Given the description of an element on the screen output the (x, y) to click on. 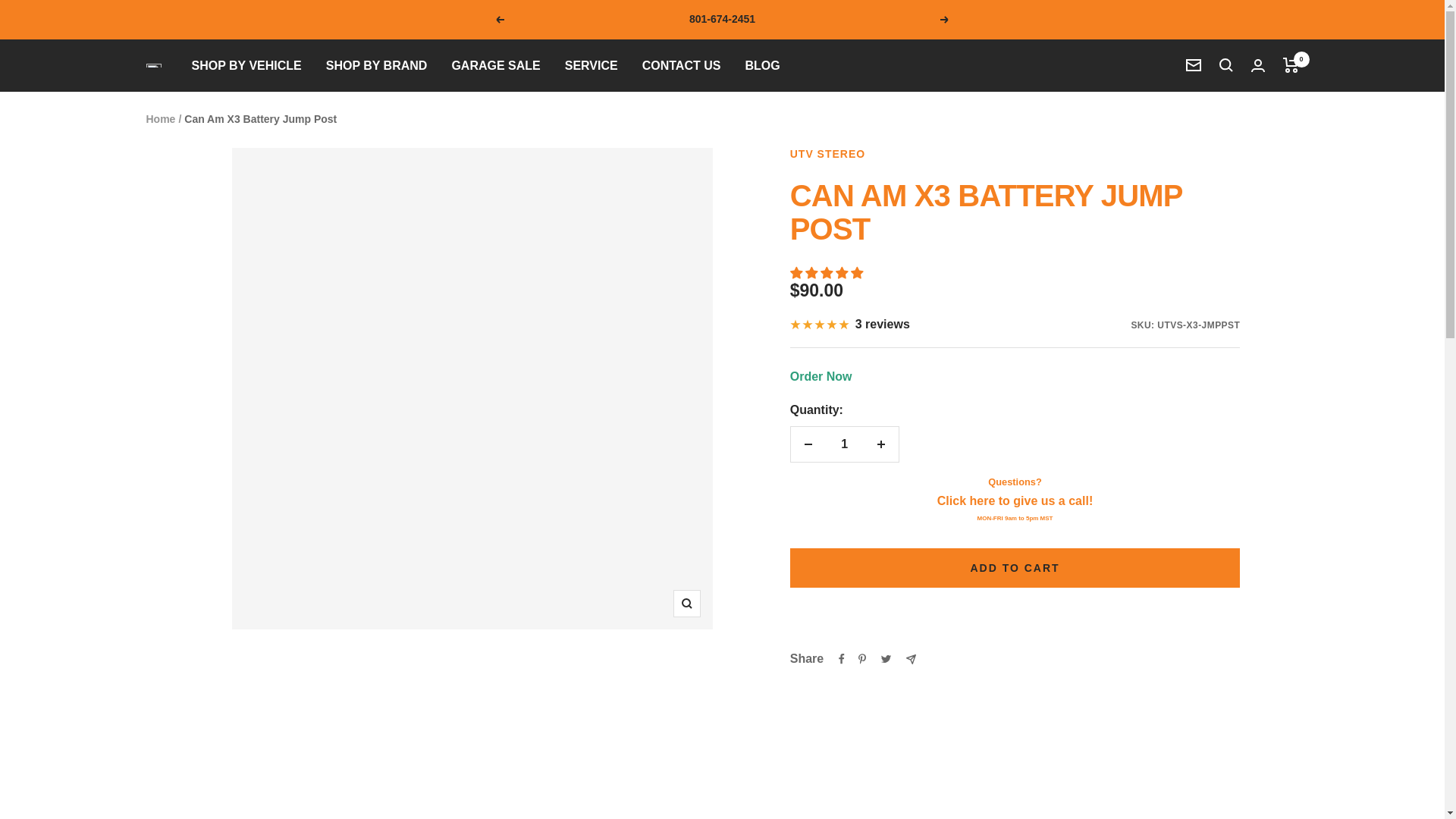
Newsletter (1193, 65)
Previous (499, 19)
1 (844, 443)
SERVICE (590, 65)
Next (944, 19)
Kombustion Motorsports (152, 65)
SHOP BY BRAND (377, 65)
SHOP BY VEHICLE (245, 65)
CONTACT US (681, 65)
BLOG (761, 65)
